Given the description of an element on the screen output the (x, y) to click on. 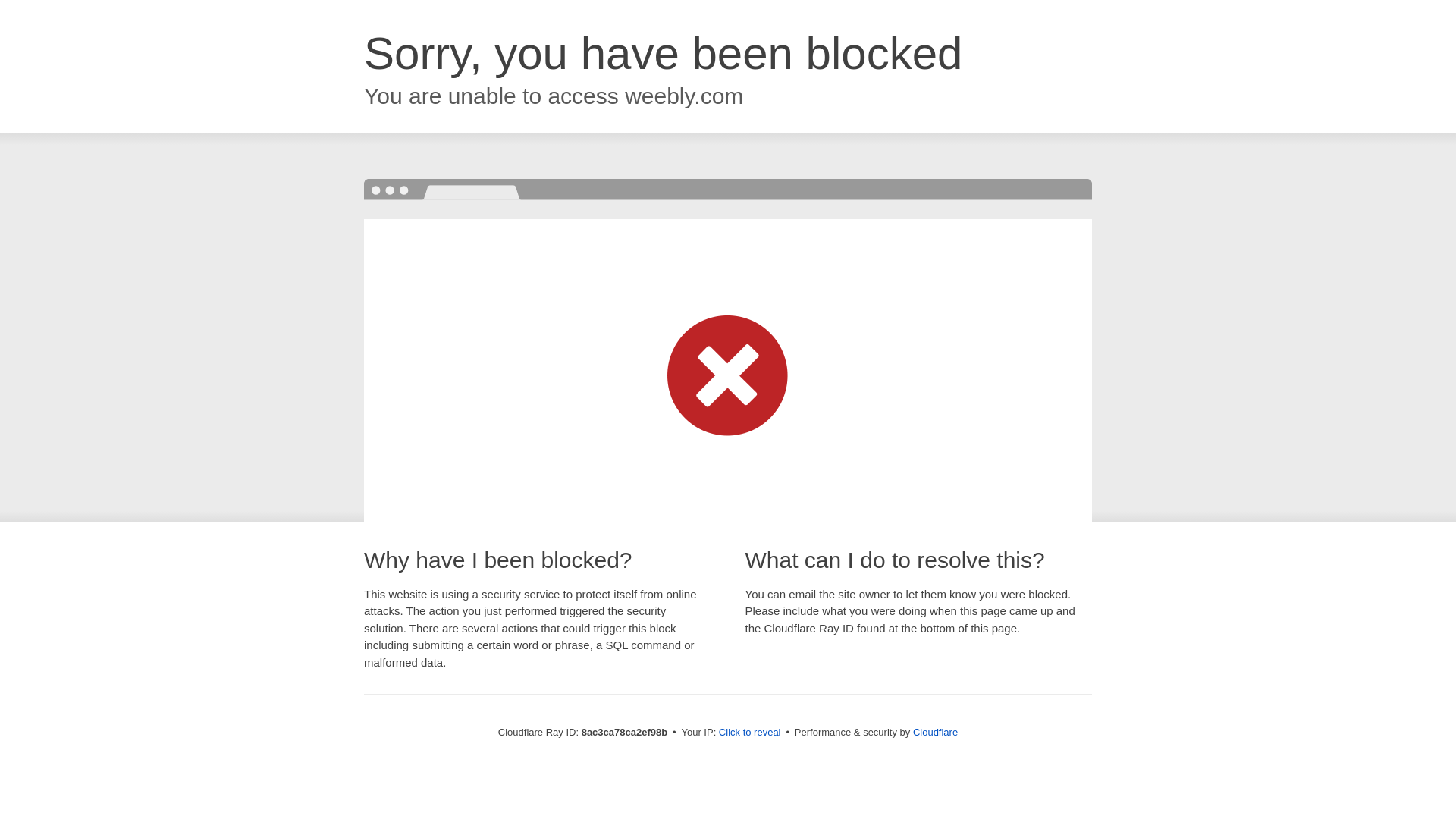
Click to reveal (749, 732)
Cloudflare (935, 731)
